Given the description of an element on the screen output the (x, y) to click on. 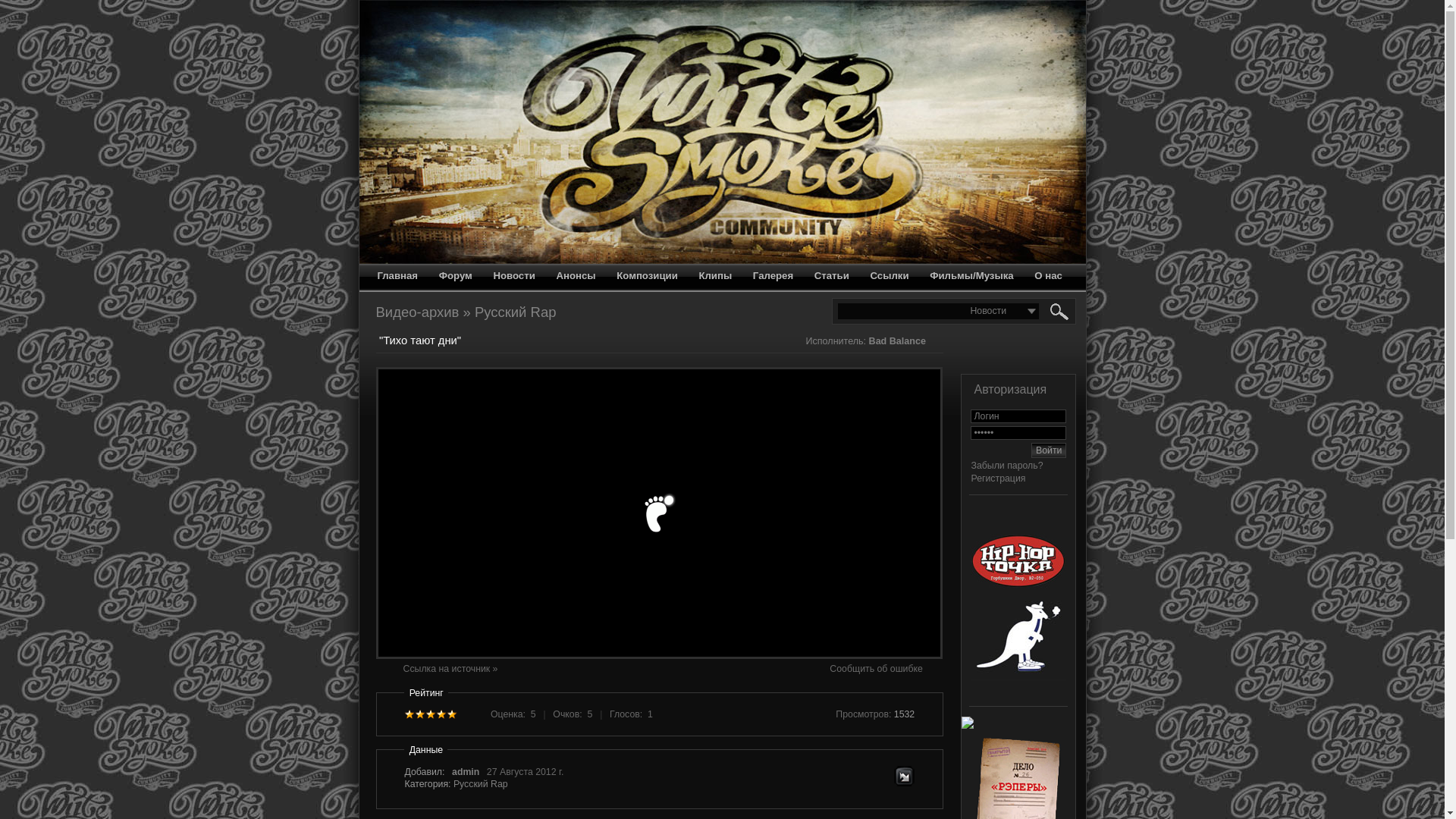
  Element type: text (430, 714)
  Element type: text (451, 714)
  Element type: text (419, 714)
  Element type: text (409, 714)
  Element type: text (441, 714)
admin Element type: text (465, 770)
